Given the description of an element on the screen output the (x, y) to click on. 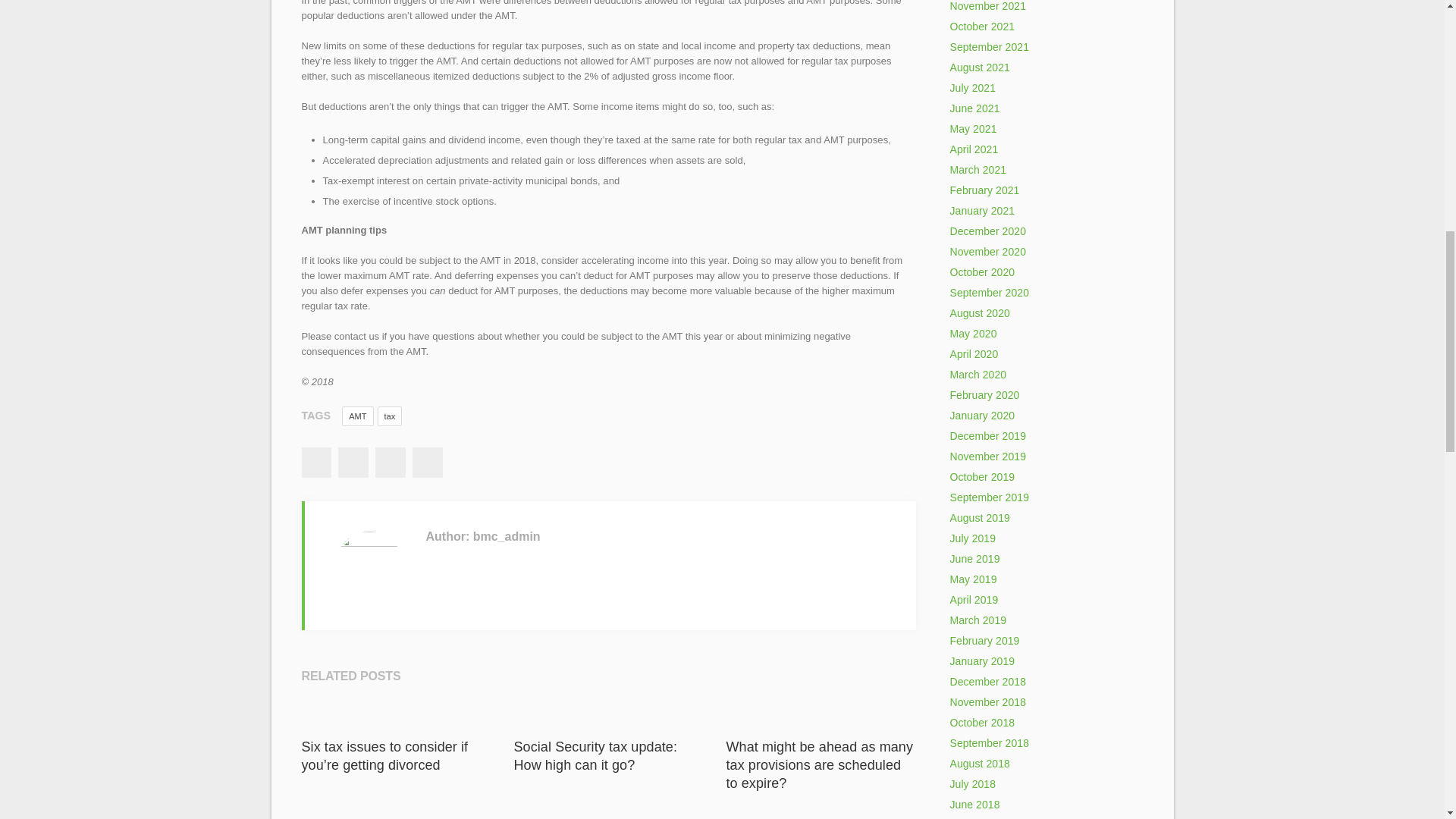
AMT (357, 415)
Twitter (352, 462)
Pinterest (427, 462)
Facebook (314, 462)
tax (390, 415)
